Given the description of an element on the screen output the (x, y) to click on. 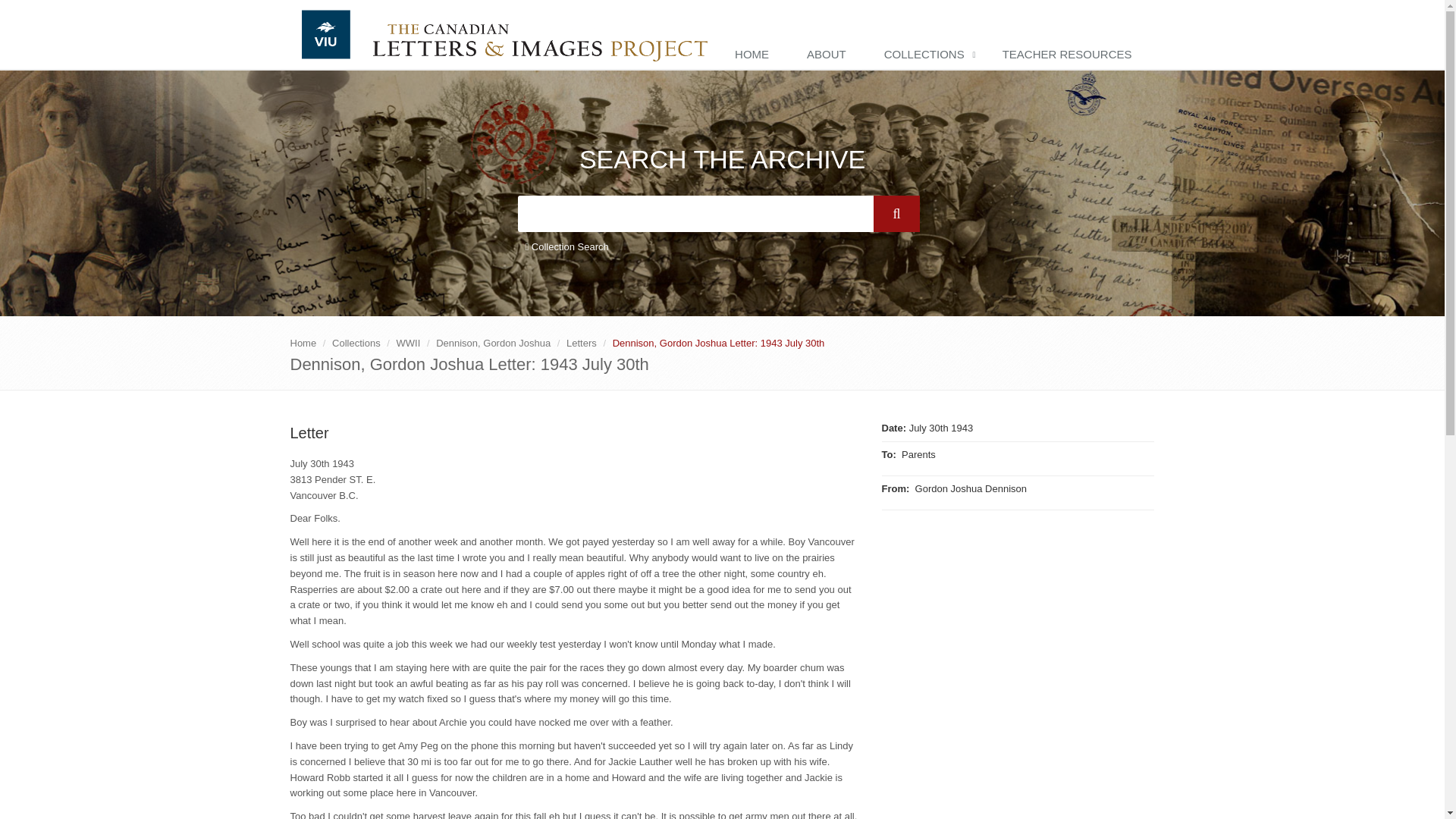
WWII (408, 342)
COLLECTIONS (928, 55)
Home (302, 342)
Letters (581, 342)
HOME (755, 55)
Collection Search (566, 247)
TEACHER RESOURCES (1070, 55)
Collections (355, 342)
Dennison, Gordon Joshua (492, 342)
ABOUT (830, 55)
Enter the terms you wish to search for. (694, 213)
